Given the description of an element on the screen output the (x, y) to click on. 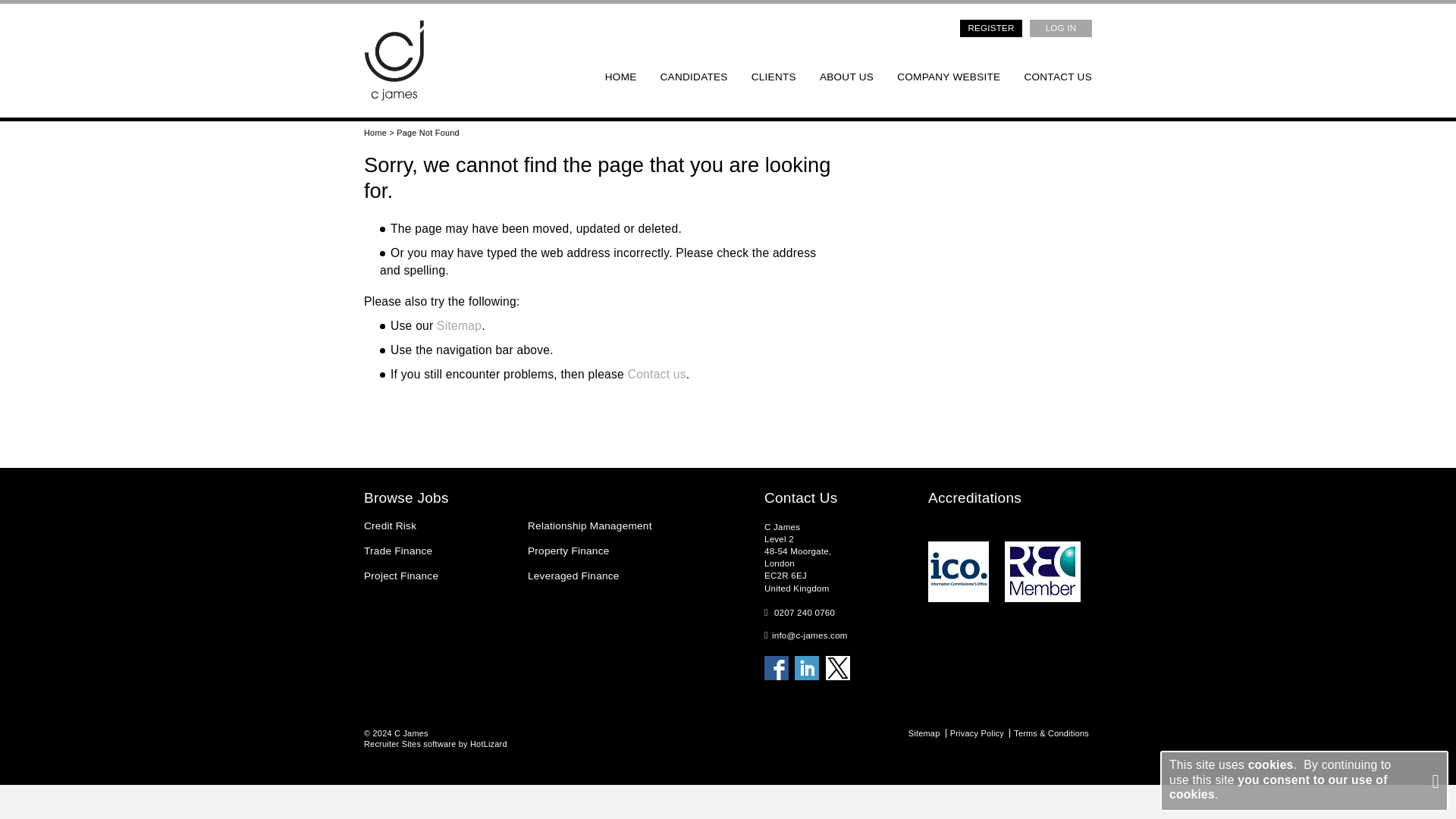
ABOUT US (846, 77)
Contact us (656, 373)
Home (375, 132)
HotLizard (488, 743)
Follow us on Facebook (776, 668)
Leveraged Finance (605, 576)
Trade Finance (441, 551)
0207 240 0760 (804, 612)
LOG IN (1060, 27)
Property Finance (605, 551)
